Given the description of an element on the screen output the (x, y) to click on. 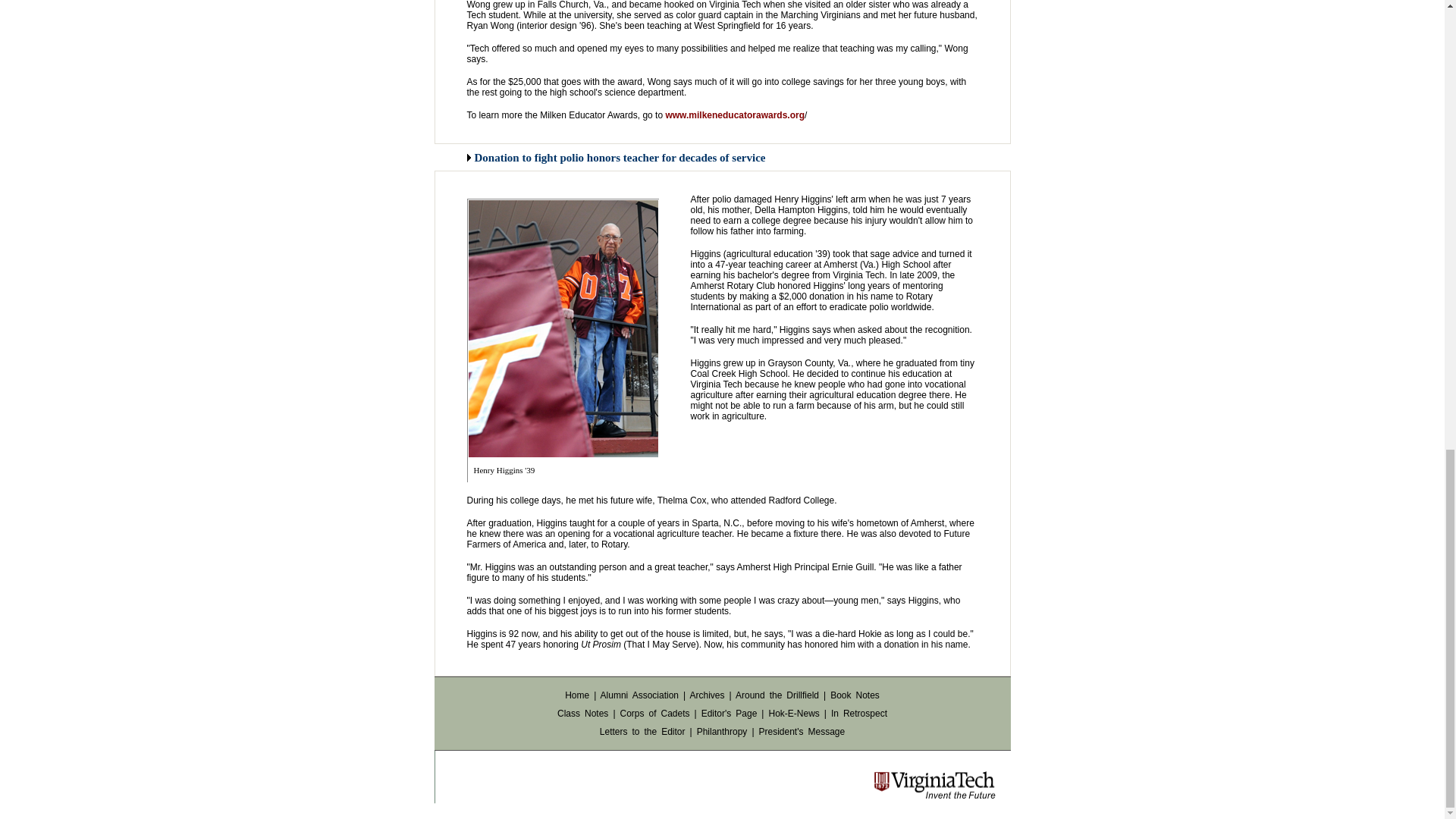
www.milkeneducatorawards.org (735, 114)
Philanthropy (722, 731)
Letters to the Editor (642, 731)
Hok-E-News (793, 713)
Editor's Page (729, 713)
Home (576, 695)
Archives (705, 695)
Alumni Association (638, 695)
In Retrospect (858, 713)
Book Notes (854, 695)
Around the Drillfield (776, 695)
Corps of Cadets (655, 713)
President's Message (801, 731)
Class Notes (582, 713)
